Given the description of an element on the screen output the (x, y) to click on. 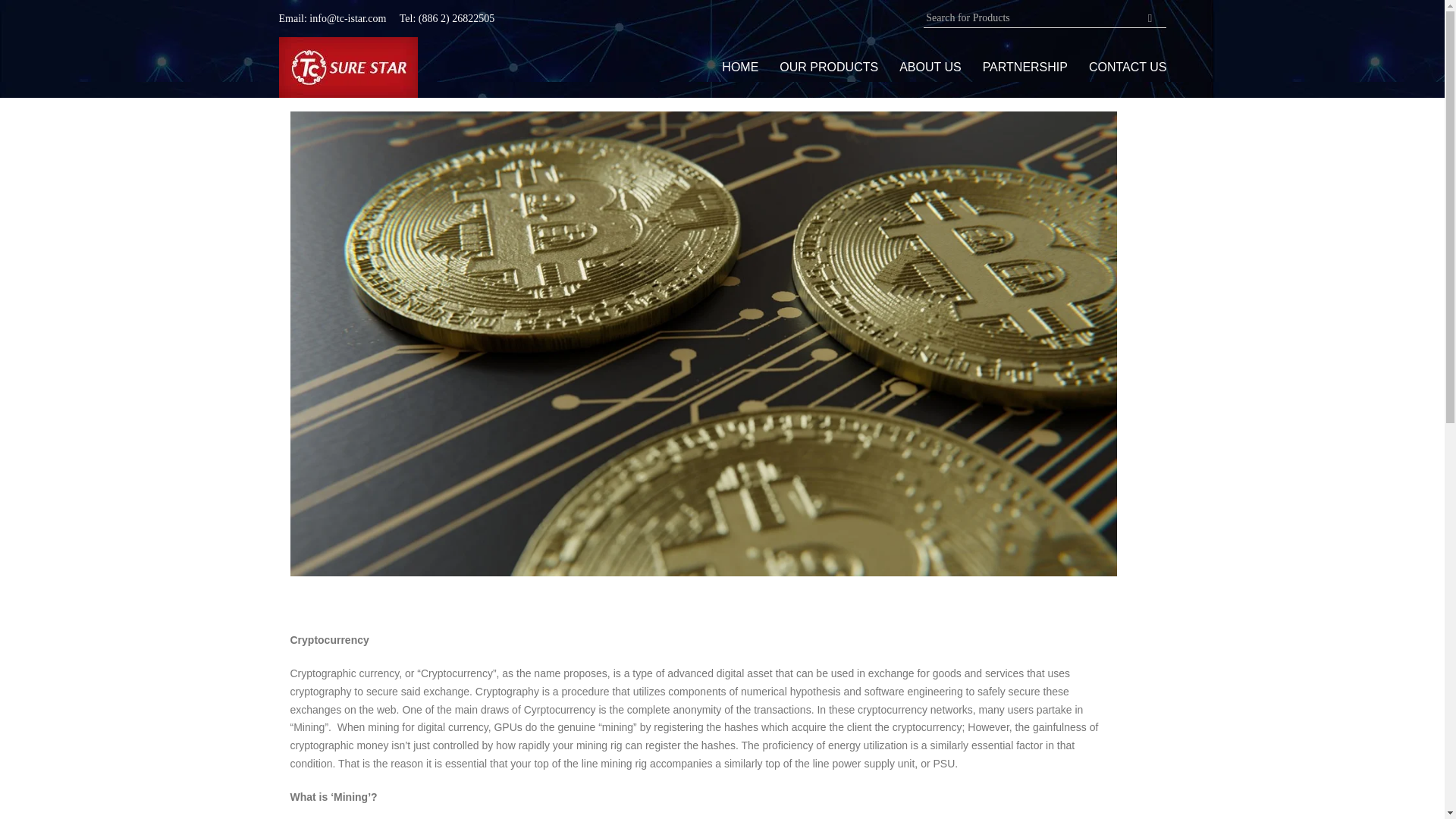
HOME (740, 66)
OUR PRODUCTS (827, 66)
ABOUT US (929, 66)
PARTNERSHIP (1024, 66)
DynaPowerUSA (348, 66)
CONTACT US (1128, 66)
